Given the description of an element on the screen output the (x, y) to click on. 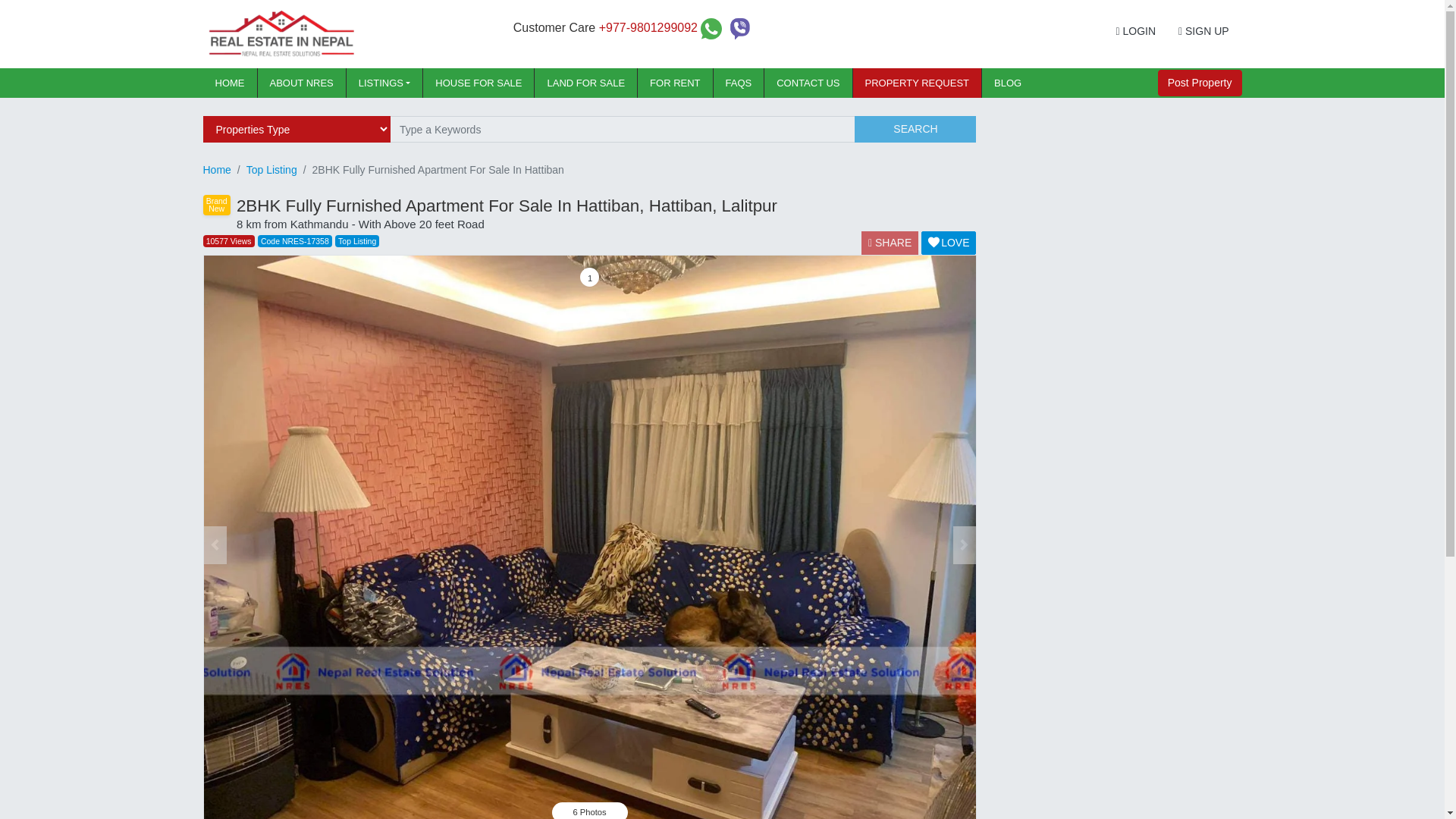
SIGN UP (1204, 31)
LOVE (948, 242)
Home (230, 82)
Post Property (1199, 82)
SEARCH (914, 129)
FAQS (739, 82)
SHARE (889, 242)
About NRES (301, 82)
CONTACT US (807, 82)
